Given the description of an element on the screen output the (x, y) to click on. 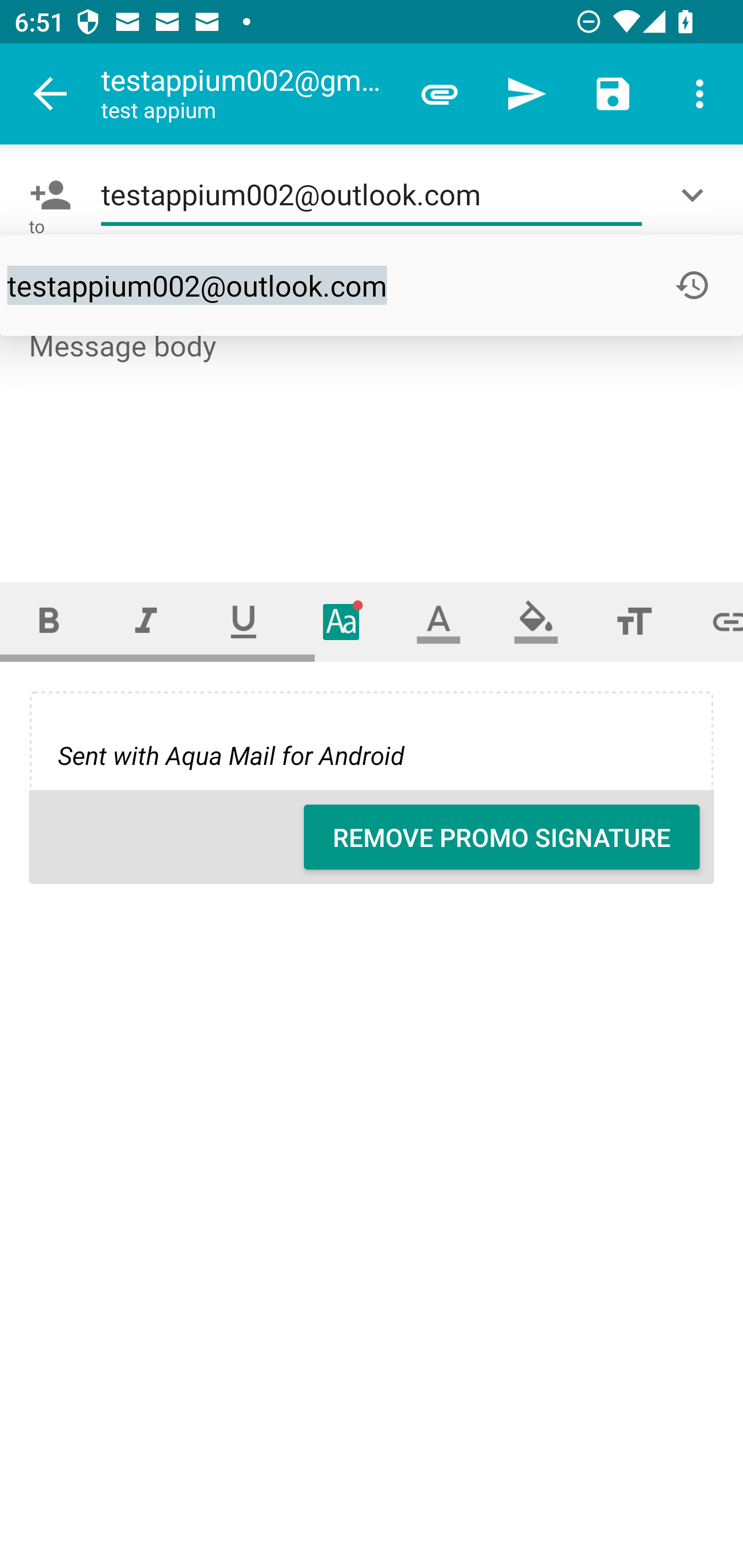
Navigate up (50, 93)
testappium002@gmail.com test appium (248, 93)
Attach (439, 93)
Send (525, 93)
Save (612, 93)
More options (699, 93)
Pick contact: To (46, 195)
Show/Add CC/BCC (696, 195)
testappium002@outlook.com (371, 195)
Message subject (371, 284)
Message body (372, 438)
Bold (48, 621)
Italic (145, 621)
Underline (243, 621)
Typeface (font) (341, 621)
Text color (438, 621)
Fill color (536, 621)
Font size (633, 621)
REMOVE PROMO SIGNATURE (501, 837)
